Given the description of an element on the screen output the (x, y) to click on. 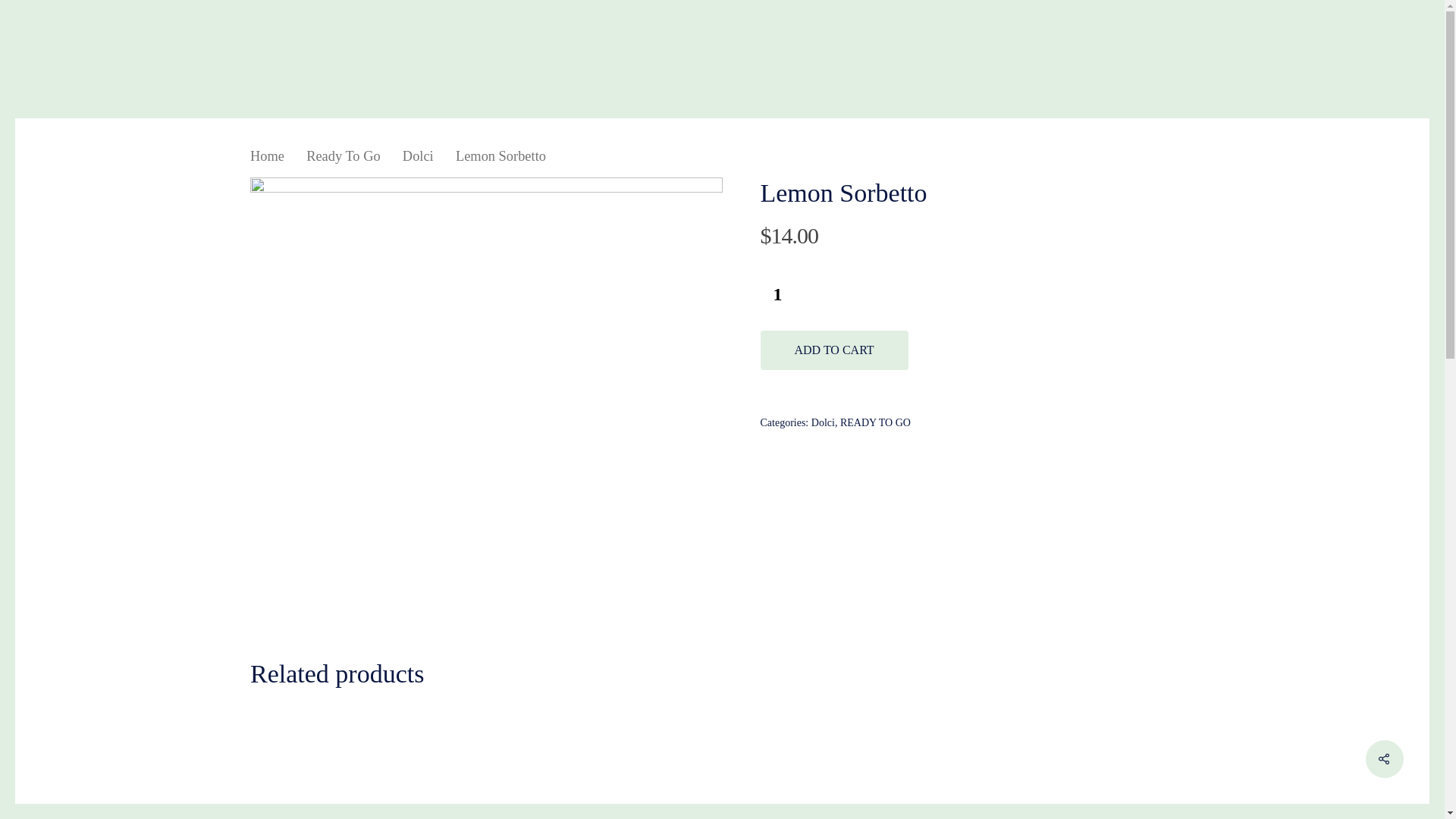
Pasta Special Element type: text (1012, 613)
Lunch Element type: text (750, 613)
Make a Booking Element type: text (540, 674)
Ready To Go Element type: text (342, 155)
Home Element type: text (508, 613)
Dolci Element type: text (822, 422)
Products Element type: text (516, 659)
Menu Element type: text (508, 629)
Functions Element type: text (520, 644)
Home Element type: text (267, 155)
READY TO GO Element type: text (875, 422)
Dolci Element type: text (417, 155)
Functions Element type: text (761, 659)
ADD TO CART Element type: text (833, 350)
Contact Element type: text (513, 689)
Lemon Sorbetto Element type: hover (486, 413)
Dinner Element type: text (752, 629)
enquiries@lozzi.com.au Element type: text (340, 689)
Qty Element type: hover (776, 294)
Dessert Element type: text (754, 644)
(02) 9817 3324 ext:1 Element type: text (330, 674)
